Given the description of an element on the screen output the (x, y) to click on. 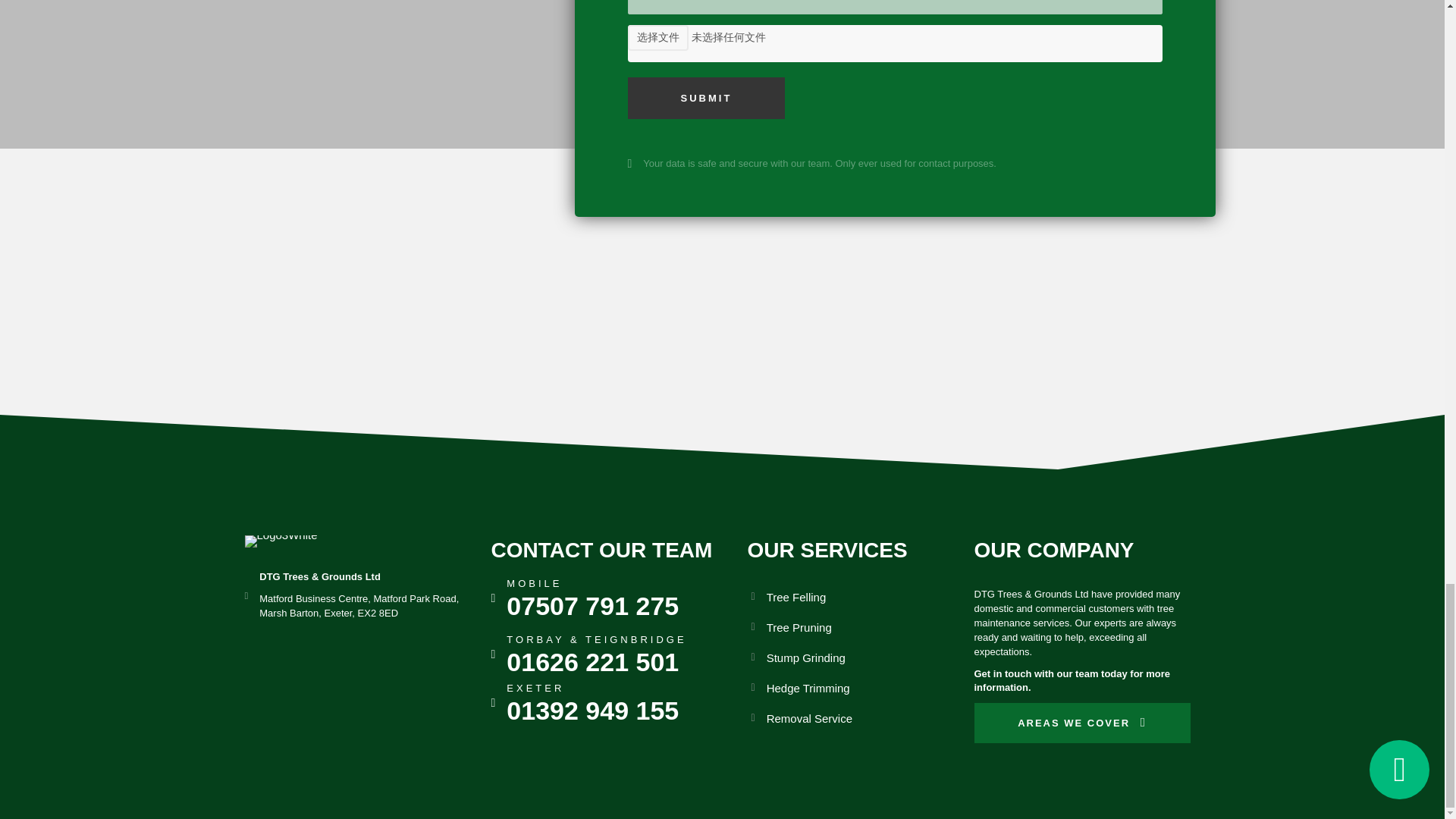
Logo3White (280, 541)
Contact Our Team (602, 549)
Our Services (827, 549)
